Given the description of an element on the screen output the (x, y) to click on. 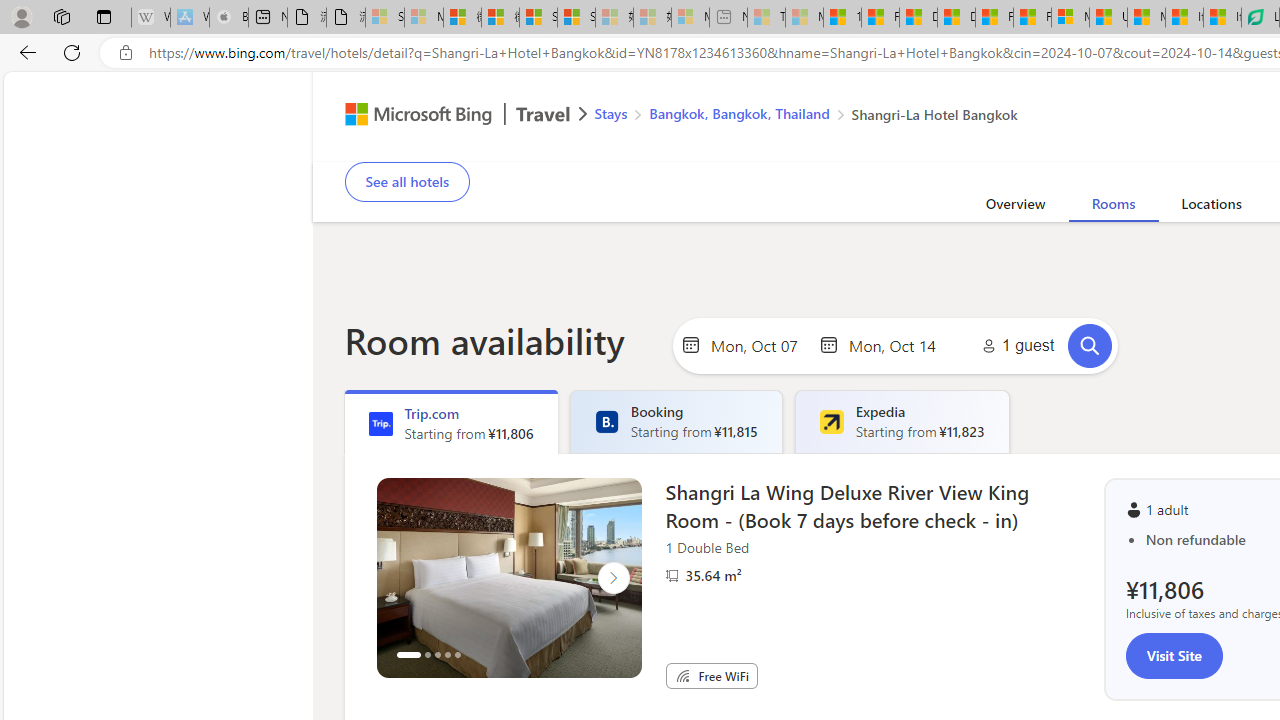
Foo BAR | Trusted Community Engagement and Contributions (1031, 17)
